Given the description of an element on the screen output the (x, y) to click on. 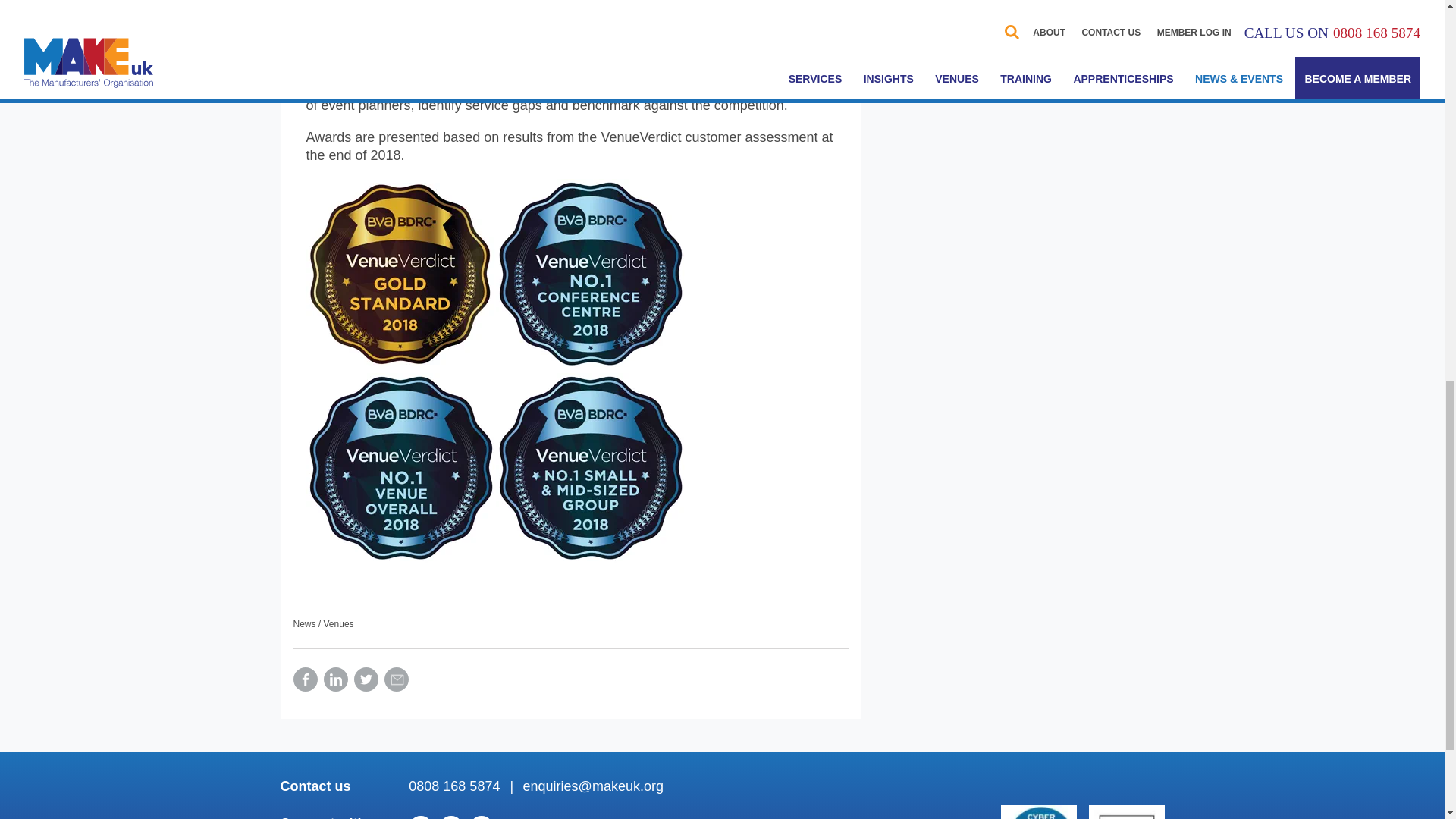
Linkedin icon (335, 679)
Facebook icon (304, 679)
Email icon (395, 679)
Twitter icon (365, 679)
Linkedin icon (420, 817)
Twitter icon (451, 817)
